Given the description of an element on the screen output the (x, y) to click on. 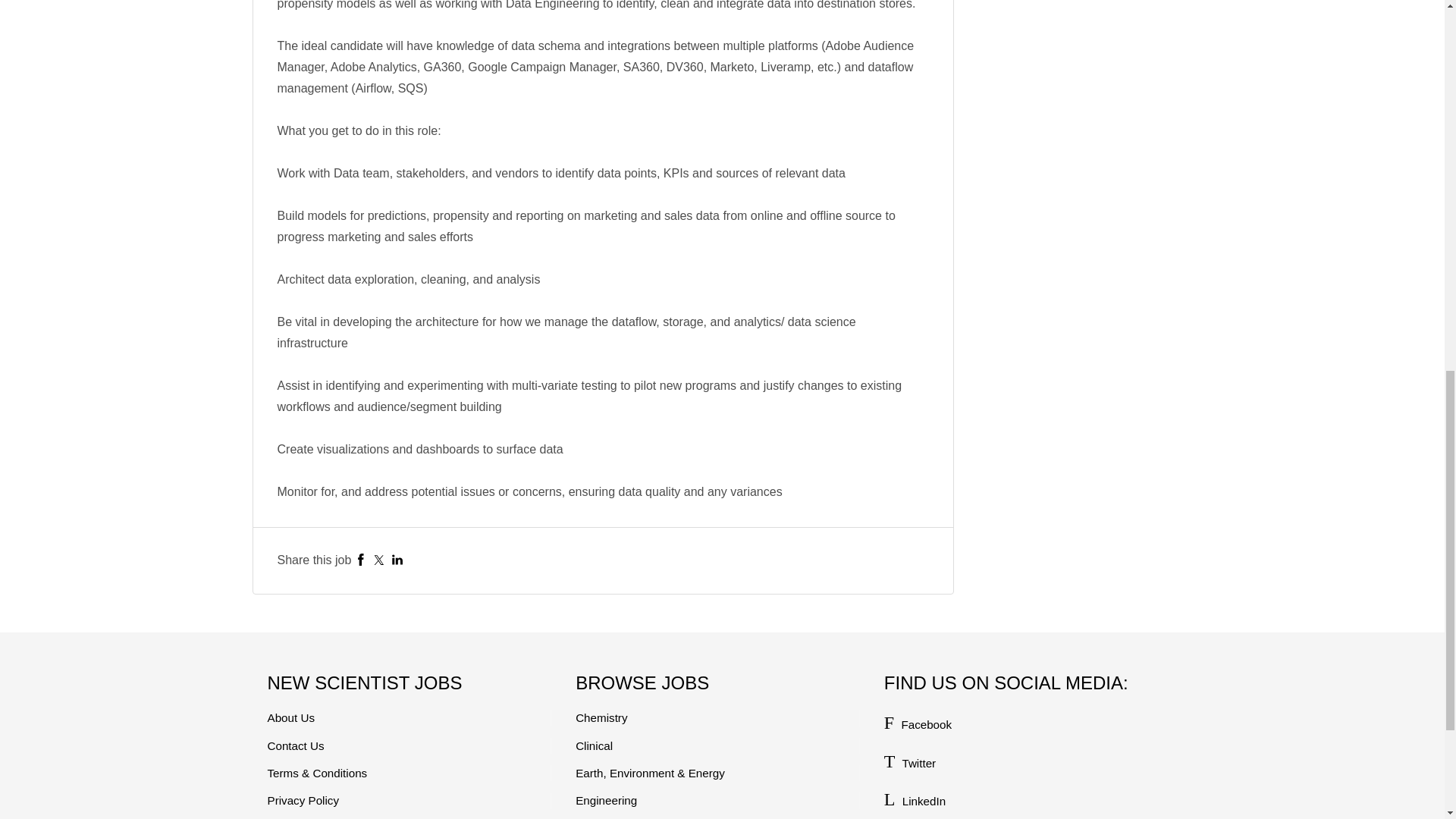
LinkedIn (397, 559)
Twitter (378, 559)
Facebook (360, 559)
